Given the description of an element on the screen output the (x, y) to click on. 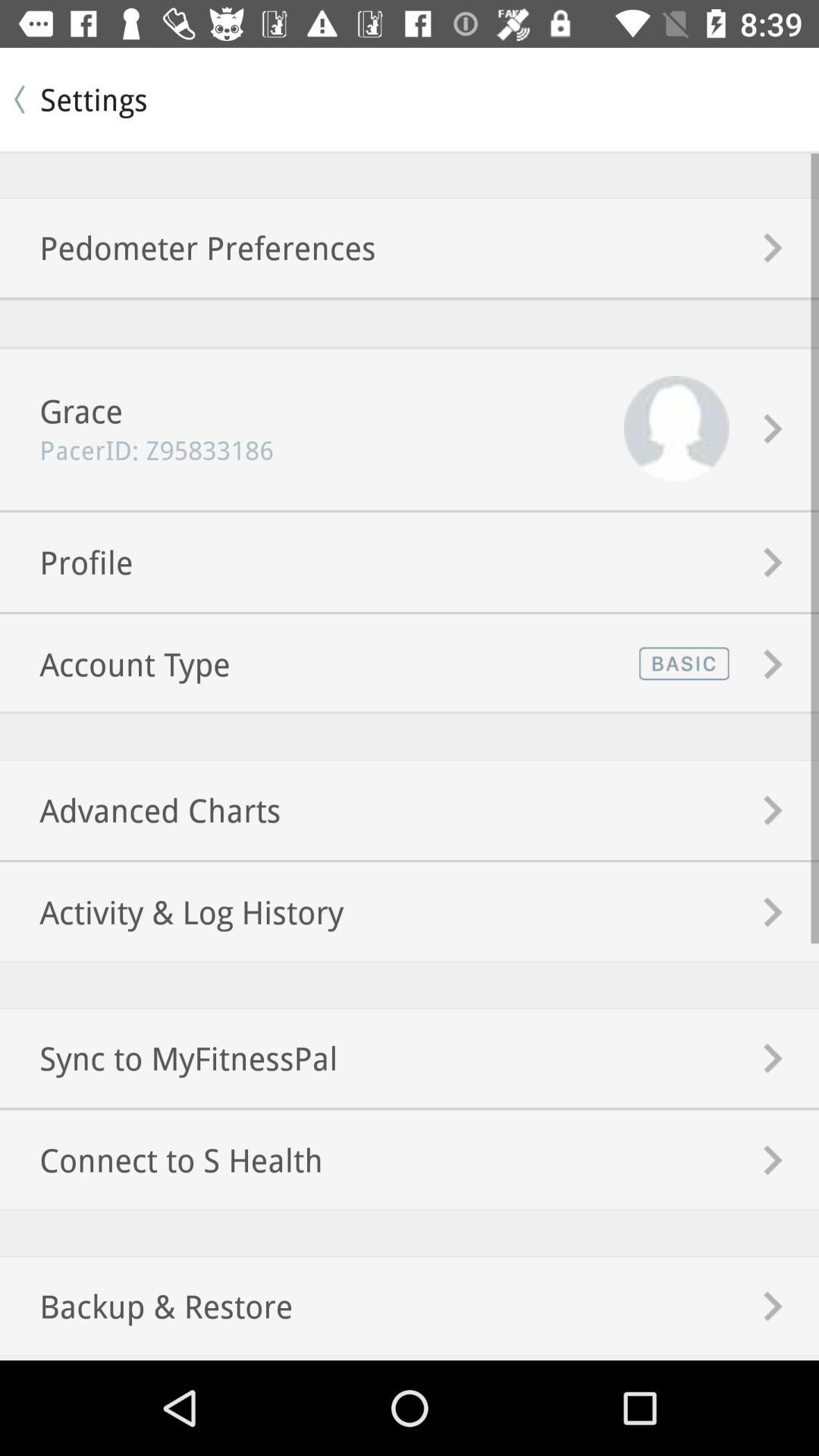
turn off connect to s item (161, 1159)
